Given the description of an element on the screen output the (x, y) to click on. 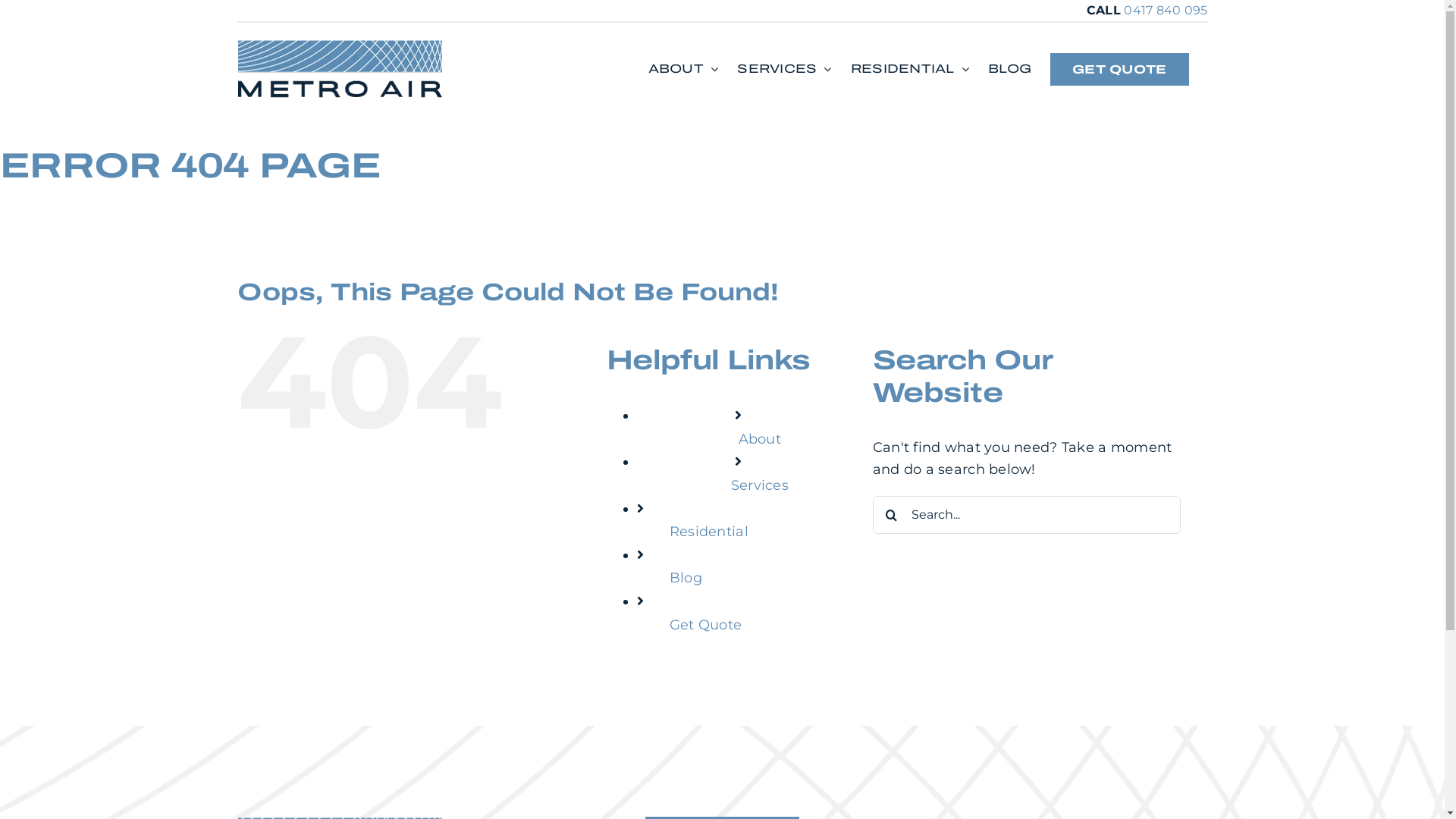
BLOG Element type: text (1009, 68)
About Element type: text (759, 438)
Blog Element type: text (685, 577)
GET QUOTE Element type: text (1119, 68)
Get Quote Element type: text (705, 624)
SERVICES Element type: text (784, 68)
ABOUT Element type: text (683, 68)
Residential Element type: text (708, 531)
Services Element type: text (759, 484)
0417 840 095 Element type: text (1165, 10)
RESIDENTIAL Element type: text (909, 68)
